Given the description of an element on the screen output the (x, y) to click on. 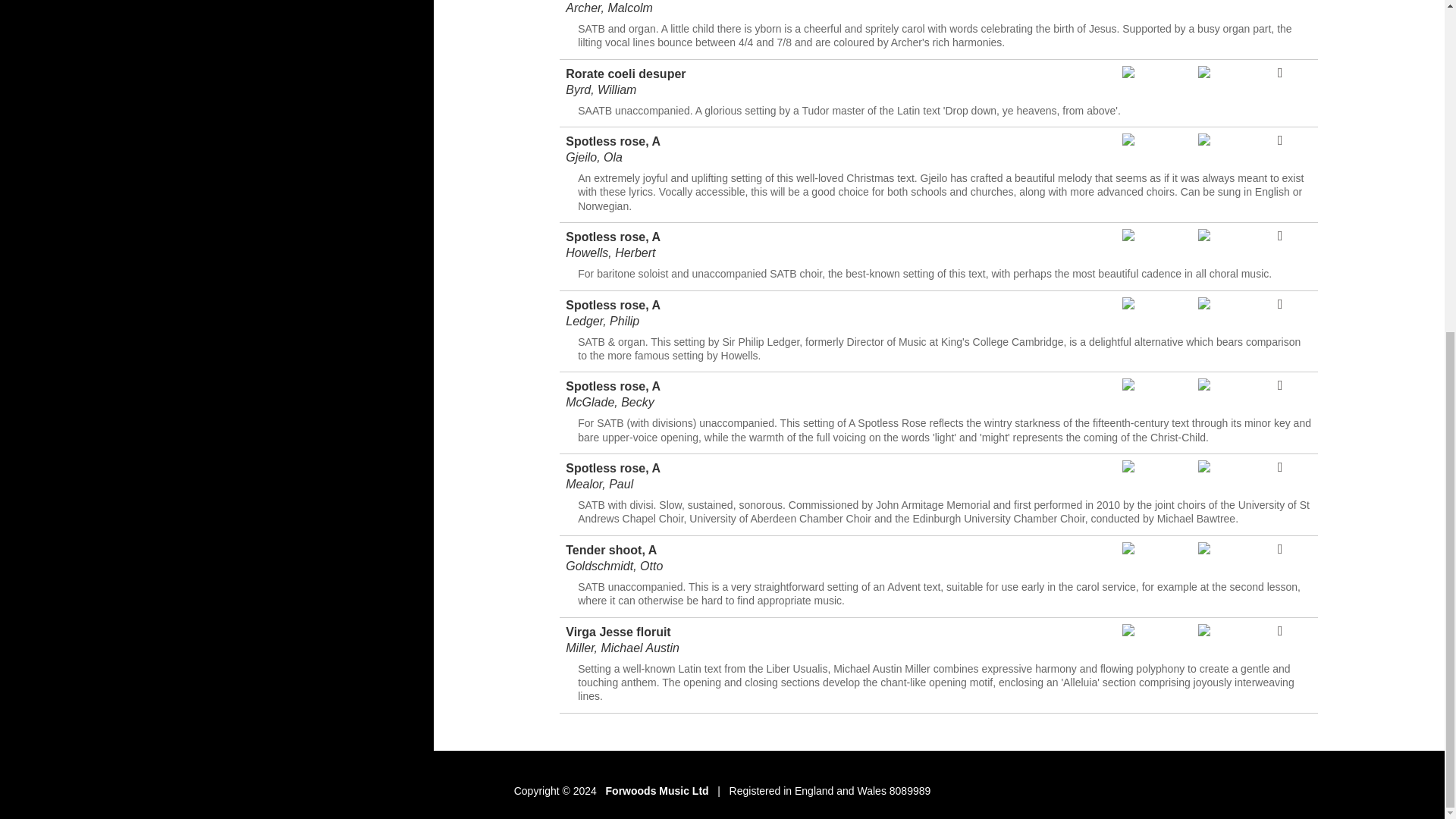
Listen on Spotify (1203, 73)
Listen on Spotify (1203, 236)
Watch on YouTube (1128, 73)
Watch on YouTube (1128, 236)
Listen on Spotify (1203, 141)
Watch on YouTube (1128, 141)
